Given the description of an element on the screen output the (x, y) to click on. 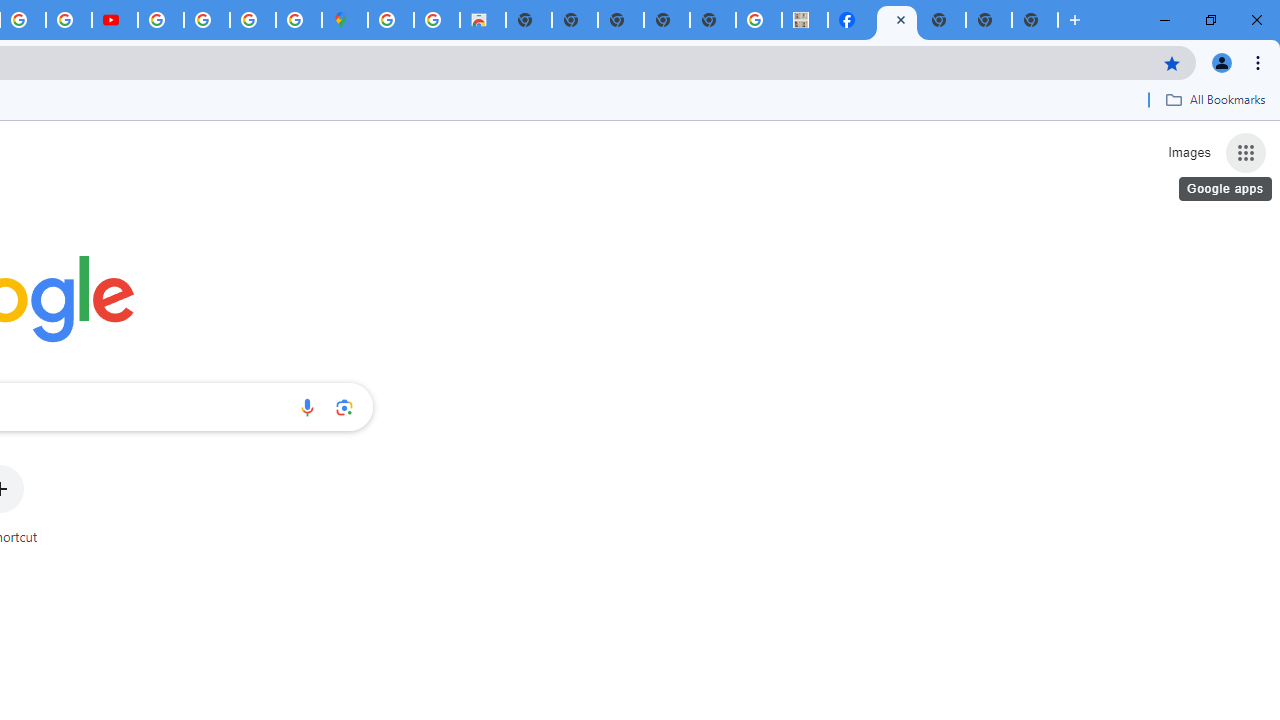
Chrome Web Store - Shopping (482, 20)
New Tab (1035, 20)
Subscriptions - YouTube (115, 20)
MILEY CYRUS. (805, 20)
